Given the description of an element on the screen output the (x, y) to click on. 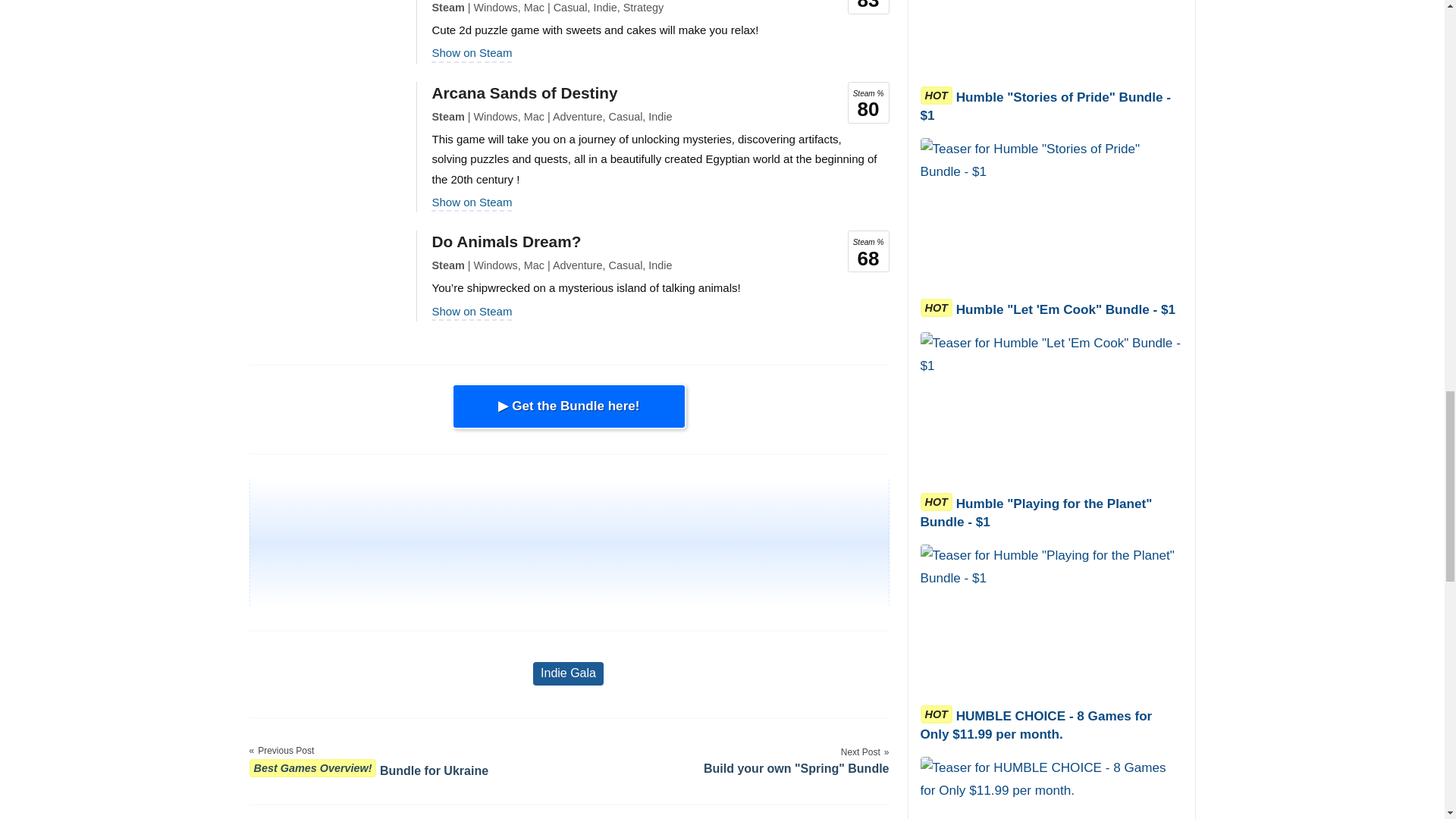
Show on Steam (472, 310)
Show on Steam (472, 201)
Show on Steam (472, 51)
Buy Savage Destiny Bundle from Indie Gala here. (569, 406)
